Given the description of an element on the screen output the (x, y) to click on. 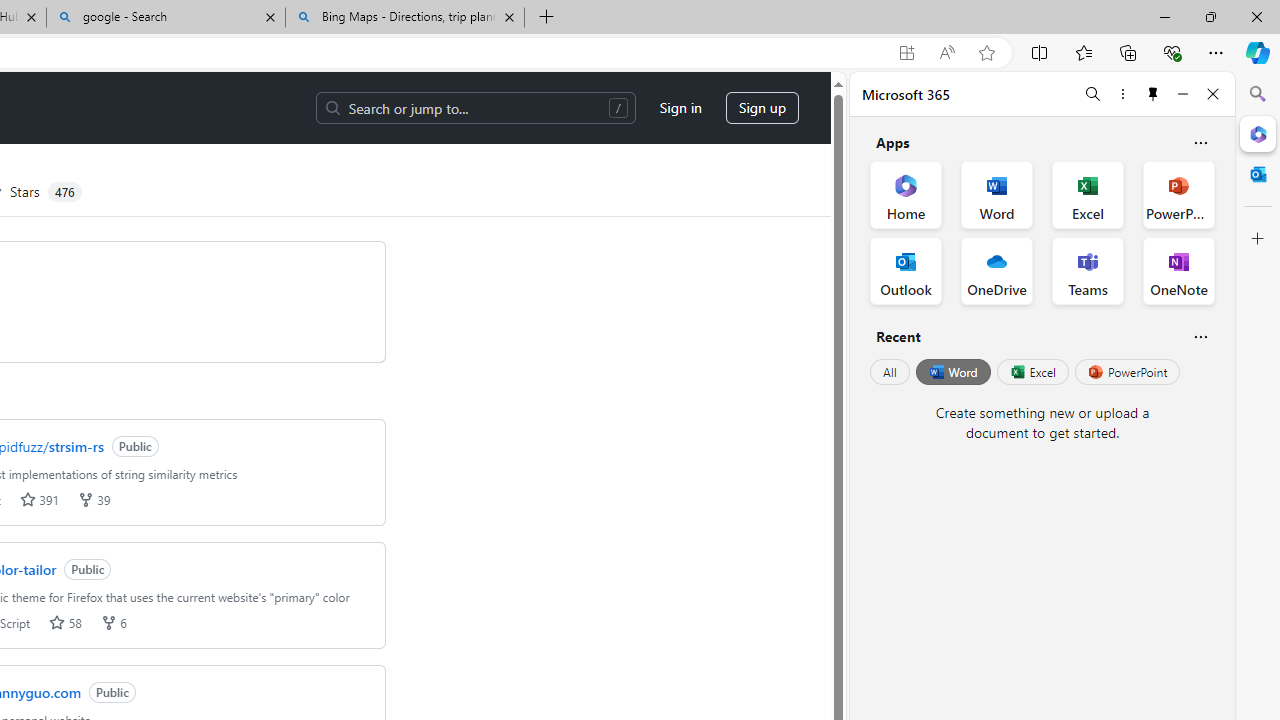
PowerPoint Office App (1178, 194)
Sign up (761, 107)
Teams Office App (1087, 270)
Word Office App (996, 194)
forks 6 (112, 622)
Excel Office App (1087, 194)
Unpin side pane (1153, 93)
stars 58 (64, 622)
Is this helpful? (1200, 336)
All (890, 372)
Sign in (680, 107)
